Given the description of an element on the screen output the (x, y) to click on. 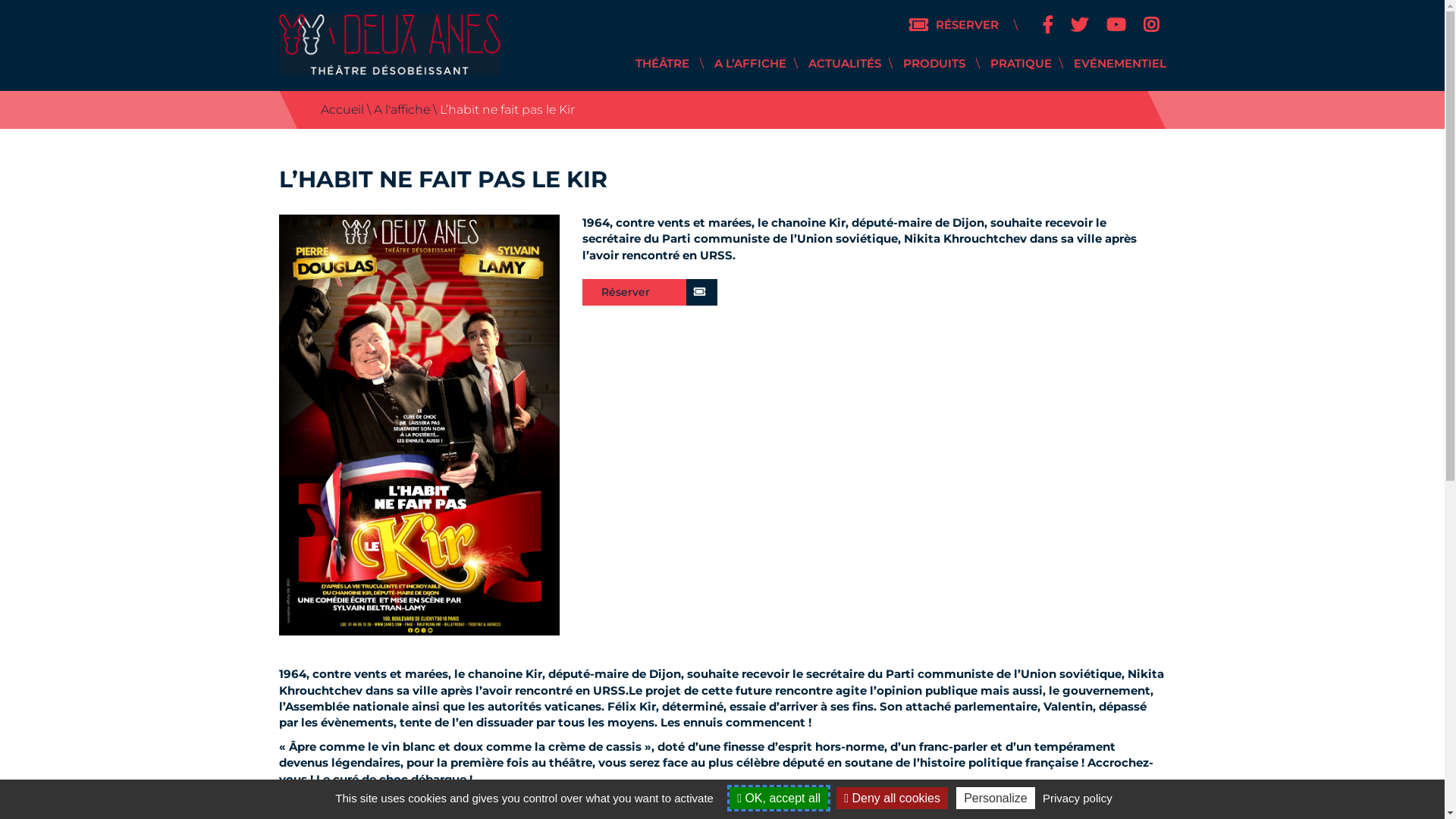
A l'affiche Element type: text (401, 109)
OK, accept all Element type: text (778, 798)
PRATIQUE Element type: text (1020, 63)
PRODUITS Element type: text (933, 63)
Deny all cookies Element type: text (891, 798)
Accueil Element type: text (341, 109)
Personalize Element type: text (995, 798)
Privacy policy Element type: text (1077, 797)
